Given the description of an element on the screen output the (x, y) to click on. 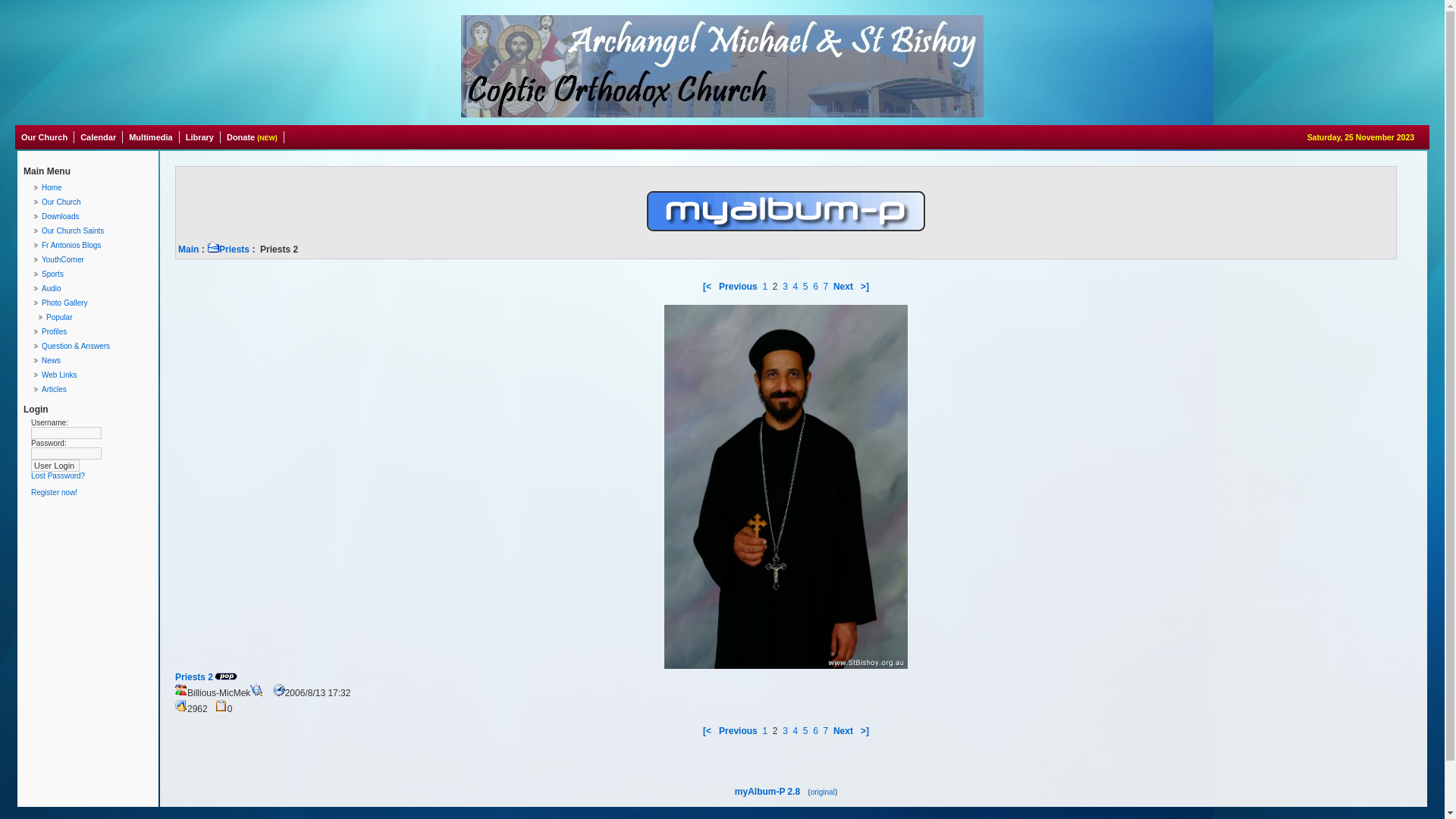
Priests 2 Element type: hover (785, 486)
YouthCorner Element type: text (91, 259)
Last Update Element type: hover (279, 690)
myAlbum-P 2.8 Element type: text (767, 791)
Priests 2 Element type: text (194, 676)
[< Element type: text (707, 286)
1 Element type: text (764, 730)
>] Element type: text (863, 286)
6 Element type: text (815, 730)
News Element type: text (91, 360)
7 Element type: text (825, 730)
Next Element type: text (843, 286)
Hits Element type: hover (181, 705)
Home Element type: text (91, 187)
Previous Element type: text (737, 730)
[< Element type: text (707, 730)
Our Church Saints Element type: text (91, 230)
4 Element type: text (794, 730)
Articles Element type: text (91, 389)
3 Element type: text (784, 730)
Audio Element type: text (91, 288)
Multimedia Element type: text (150, 137)
5 Element type: text (805, 730)
Our Church Element type: text (91, 201)
Sports Element type: text (91, 273)
Web Links Element type: text (91, 374)
3 Element type: text (784, 286)
Question & Answers Element type: text (91, 345)
>] Element type: text (863, 730)
Next Element type: text (843, 730)
6 Element type: text (815, 286)
Donate (NEW) Element type: text (252, 137)
1 Element type: text (764, 286)
Library Element type: text (199, 137)
Lost Password? Element type: text (57, 475)
Previous Element type: text (737, 286)
Main Element type: text (188, 249)
Profiles Element type: text (91, 331)
Priests Element type: text (228, 249)
Comments Element type: hover (221, 705)
Downloads Element type: text (91, 216)
5 Element type: text (805, 286)
User Login Element type: text (55, 465)
Register now! Element type: text (54, 492)
4 Element type: text (794, 286)
Popular Element type: hover (225, 676)
Submitter Element type: hover (181, 690)
original Element type: text (822, 791)
Popular Element type: text (91, 317)
Fr Antonios Blogs Element type: text (91, 245)
More Photos from Billious-MicMek Element type: hover (256, 690)
Our Church Element type: text (44, 137)
Photo Gallery Element type: text (91, 302)
Calendar Element type: text (98, 137)
7 Element type: text (825, 286)
